Given the description of an element on the screen output the (x, y) to click on. 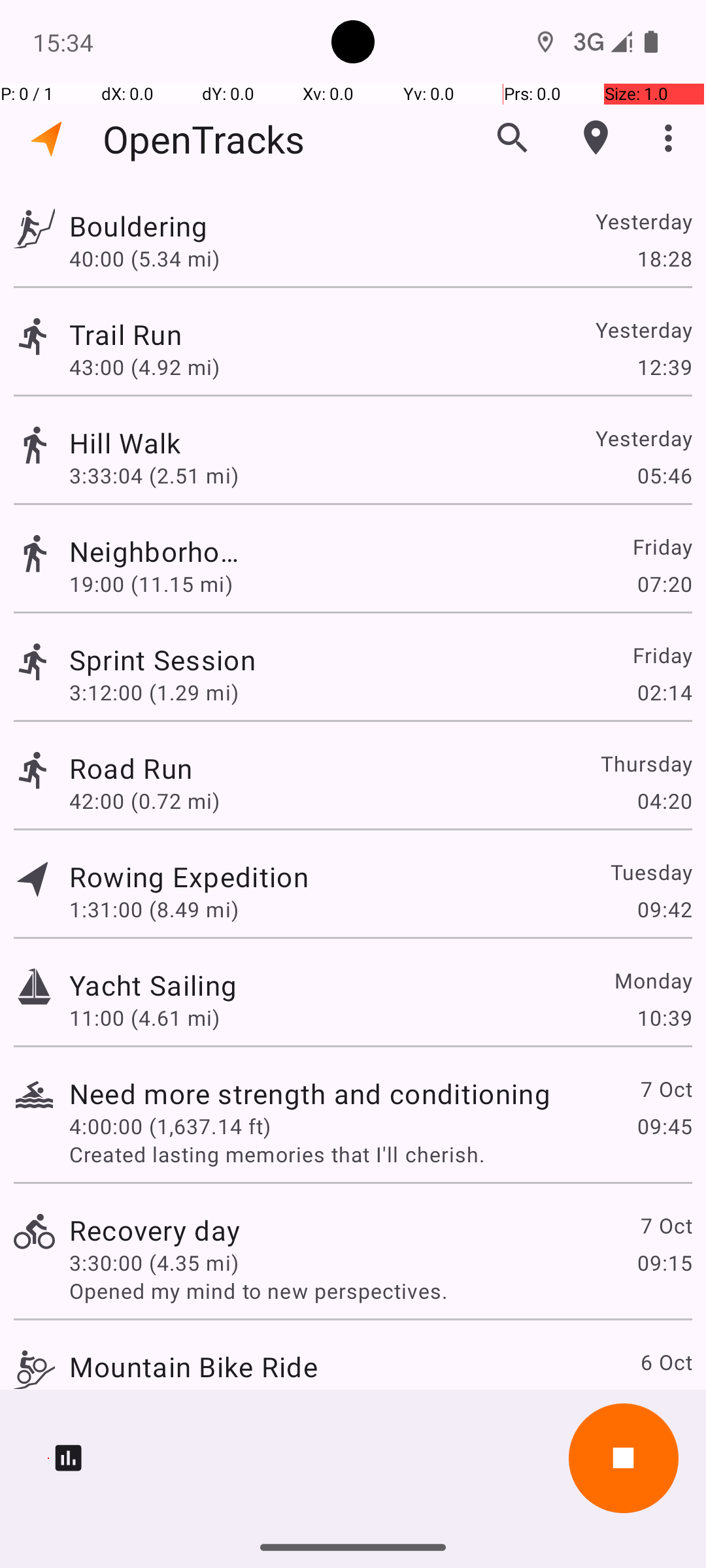
OpenTracks Element type: android.widget.TextView (203, 138)
Markers Element type: android.widget.Button (595, 137)
Record Element type: android.widget.ImageButton (623, 1458)
Track Element type: android.widget.ImageView (33, 227)
Bouldering Element type: android.widget.TextView (188, 225)
Yesterday Element type: android.widget.TextView (643, 221)
40:00 (5.34 mi) Element type: android.widget.TextView (153, 258)
18:28 Element type: android.widget.TextView (664, 258)
Trail Run Element type: android.widget.TextView (152, 333)
43:00 (4.92 mi) Element type: android.widget.TextView (144, 366)
12:39 Element type: android.widget.TextView (664, 366)
Hill Walk Element type: android.widget.TextView (309, 442)
3:33:04 (2.51 mi) Element type: android.widget.TextView (169, 475)
05:46 Element type: android.widget.TextView (664, 475)
Neighborhood Walk Element type: android.widget.TextView (154, 550)
Friday Element type: android.widget.TextView (661, 546)
19:00 (11.15 mi) Element type: android.widget.TextView (153, 583)
07:20 Element type: android.widget.TextView (664, 583)
Sprint Session Element type: android.widget.TextView (193, 659)
3:12:00 (1.29 mi) Element type: android.widget.TextView (153, 692)
02:14 Element type: android.widget.TextView (664, 692)
Road Run Element type: android.widget.TextView (130, 767)
Thursday Element type: android.widget.TextView (645, 763)
42:00 (0.72 mi) Element type: android.widget.TextView (144, 800)
04:20 Element type: android.widget.TextView (664, 800)
Rowing Expedition Element type: android.widget.TextView (188, 876)
Tuesday Element type: android.widget.TextView (650, 871)
1:31:00 (8.49 mi) Element type: android.widget.TextView (153, 909)
09:42 Element type: android.widget.TextView (664, 909)
Yacht Sailing Element type: android.widget.TextView (152, 984)
Monday Element type: android.widget.TextView (652, 980)
11:00 (4.61 mi) Element type: android.widget.TextView (144, 1017)
10:39 Element type: android.widget.TextView (664, 1017)
Need more strength and conditioning Element type: android.widget.TextView (309, 1092)
7 Oct Element type: android.widget.TextView (665, 1088)
4:00:00 (1,637.14 ft) Element type: android.widget.TextView (169, 1125)
09:45 Element type: android.widget.TextView (664, 1125)
Created lasting memories that I'll cherish. Element type: android.widget.TextView (380, 1154)
Recovery day Element type: android.widget.TextView (154, 1229)
3:30:00 (4.35 mi) Element type: android.widget.TextView (153, 1262)
09:15 Element type: android.widget.TextView (664, 1262)
Opened my mind to new perspectives. Element type: android.widget.TextView (380, 1290)
Mountain Bike Ride Element type: android.widget.TextView (193, 1366)
6 Oct Element type: android.widget.TextView (665, 1361)
3:07:00 (0.64 mi) Element type: android.widget.TextView (153, 1399)
17:04 Element type: android.widget.TextView (664, 1399)
